Given the description of an element on the screen output the (x, y) to click on. 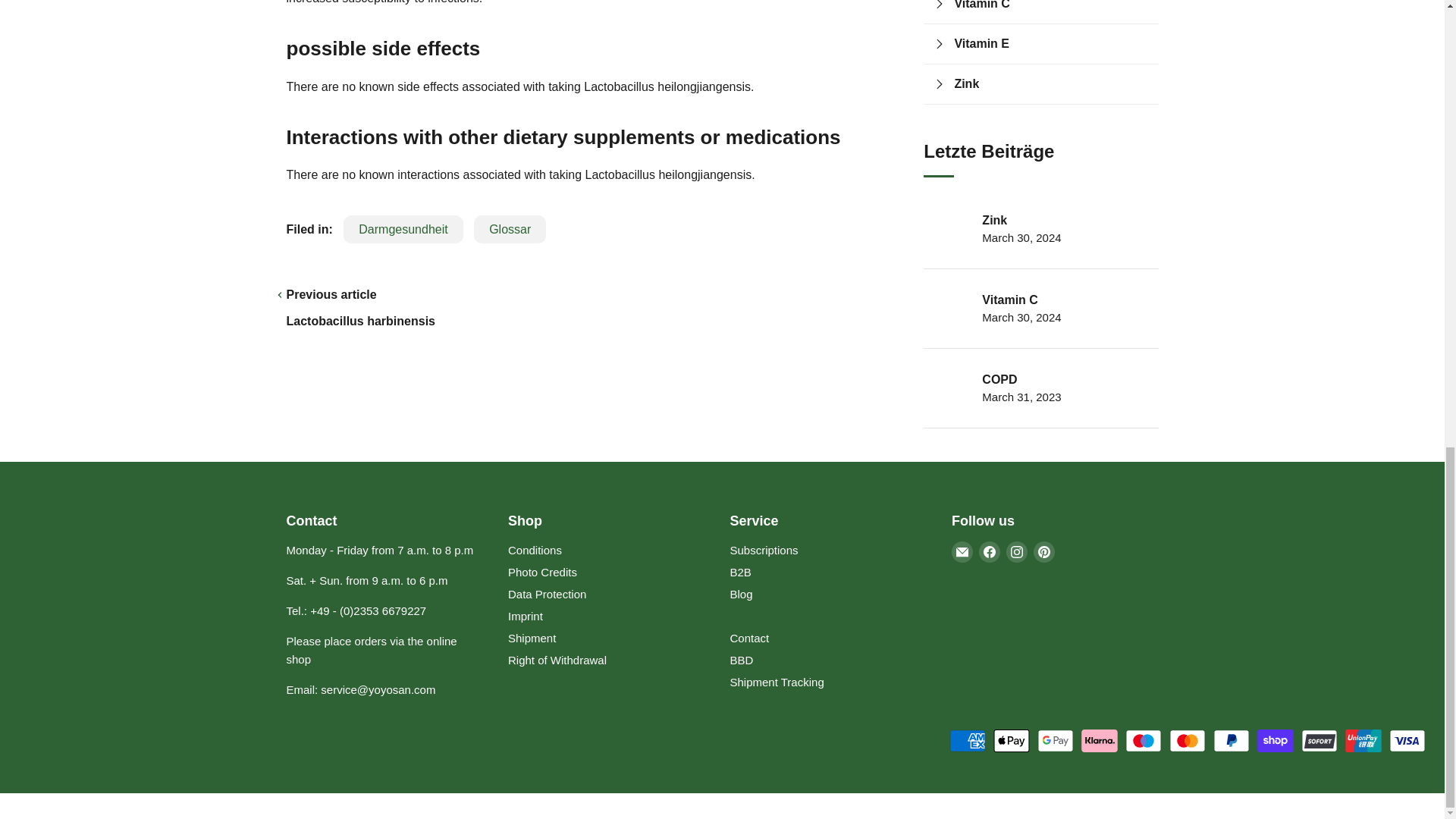
Show articles tagged Zink (1050, 84)
Show articles tagged darmgesundheit (403, 229)
Show articles tagged glossar (510, 229)
Show articles tagged Vitamin E (1050, 43)
Show articles tagged Vitamin C (1050, 7)
